Given the description of an element on the screen output the (x, y) to click on. 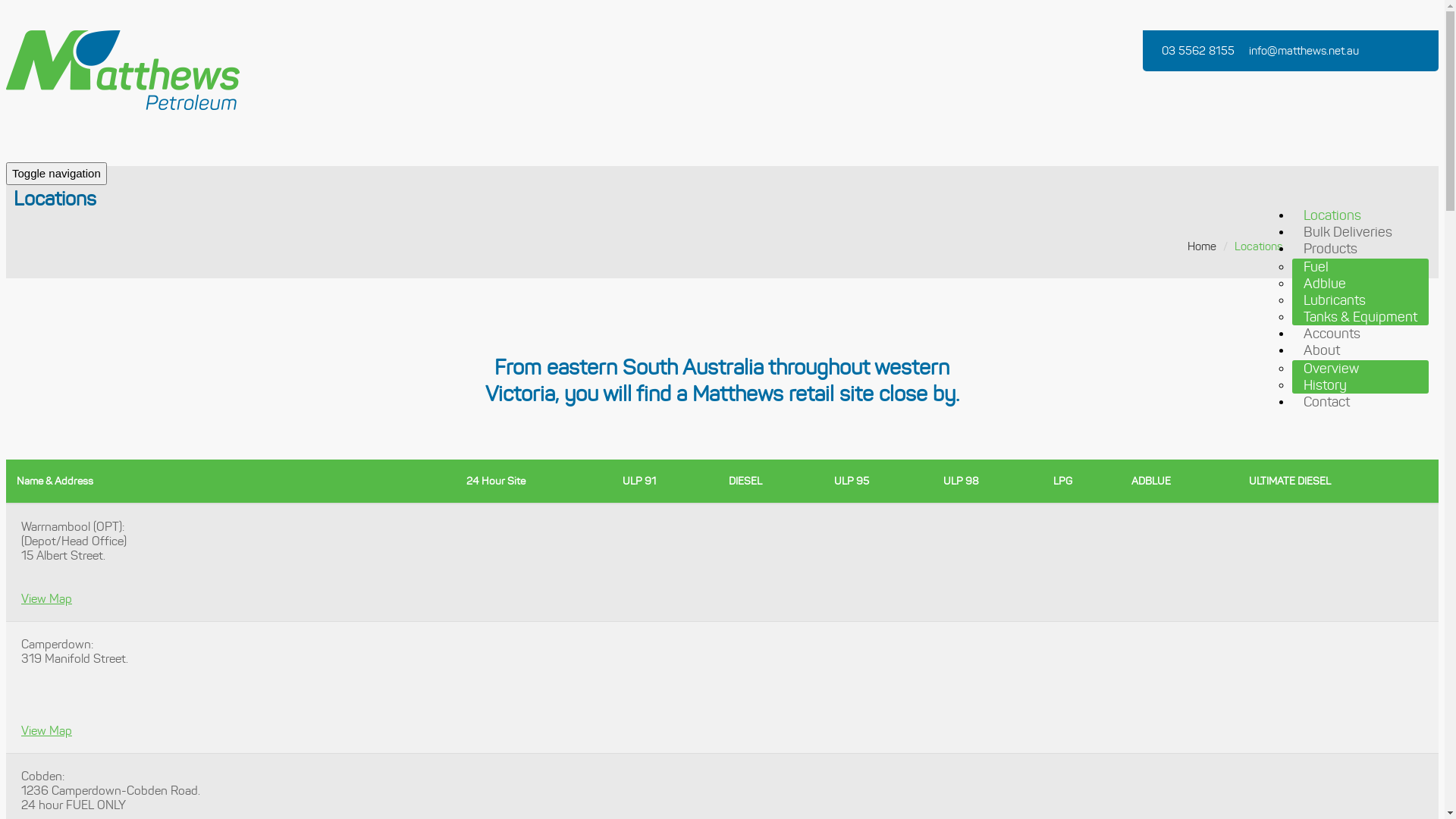
Tanks & Equipment Element type: text (1360, 316)
03 5562 8155 Element type: text (1199, 50)
Accounts Element type: text (1331, 333)
Lubricants Element type: text (1334, 300)
info@matthews.net.au Element type: text (1305, 50)
Locations Element type: text (1332, 215)
Products Element type: text (1330, 248)
Adblue Element type: text (1324, 283)
Bulk Deliveries Element type: text (1347, 231)
Toggle navigation Element type: text (56, 173)
Overview Element type: text (1331, 368)
Fuel Element type: text (1315, 266)
Locations Element type: text (1258, 246)
Home Element type: text (1201, 246)
View Map Element type: text (46, 730)
View Map Element type: text (46, 598)
Contact Element type: text (1326, 401)
History Element type: text (1325, 385)
About Element type: text (1321, 350)
